Given the description of an element on the screen output the (x, y) to click on. 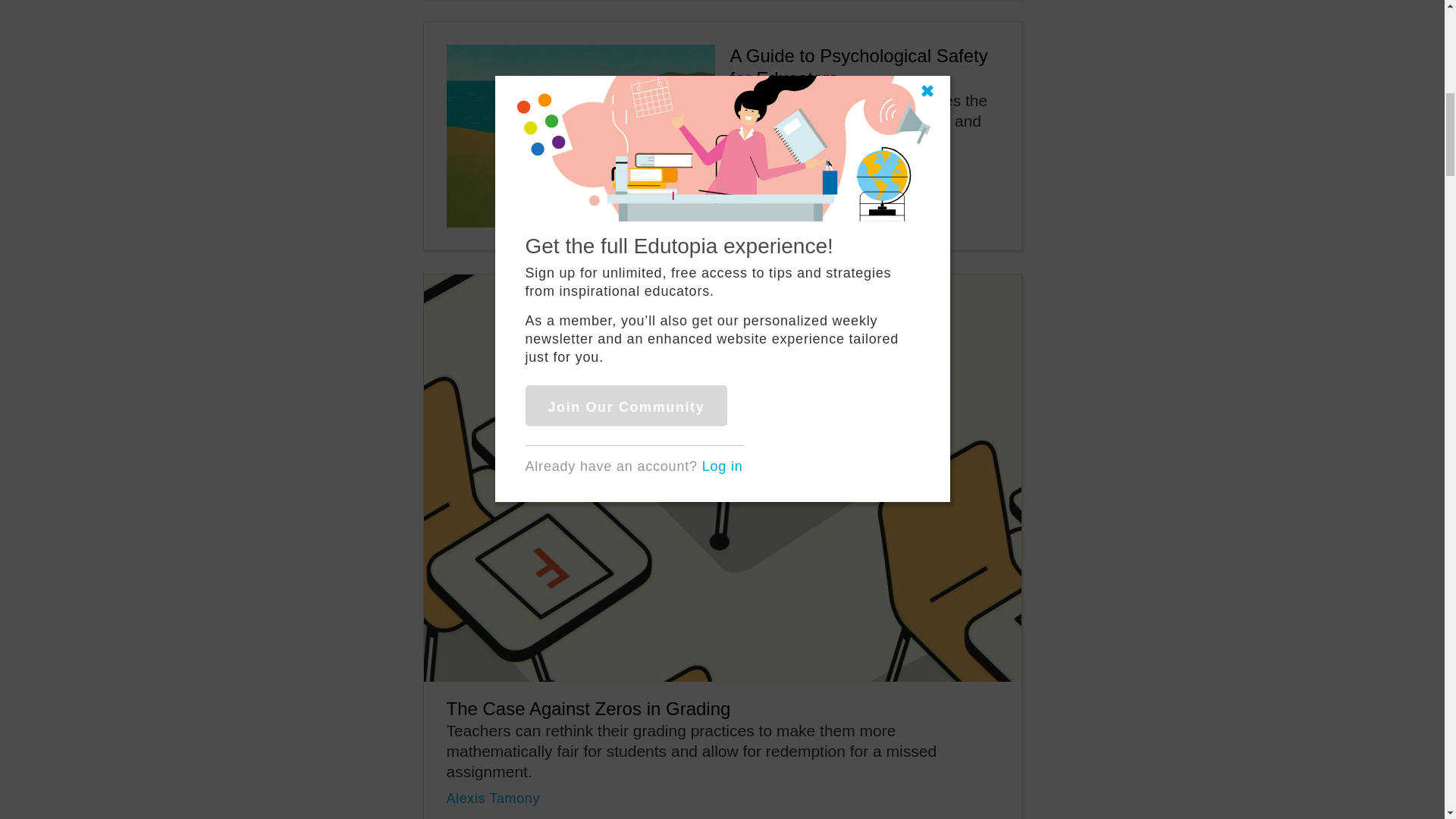
Matthew J. Bowerman (800, 168)
A Guide to Psychological Safety for Educators (858, 66)
Alexis Tamony (492, 798)
The Case Against Zeros in Grading (587, 708)
